Given the description of an element on the screen output the (x, y) to click on. 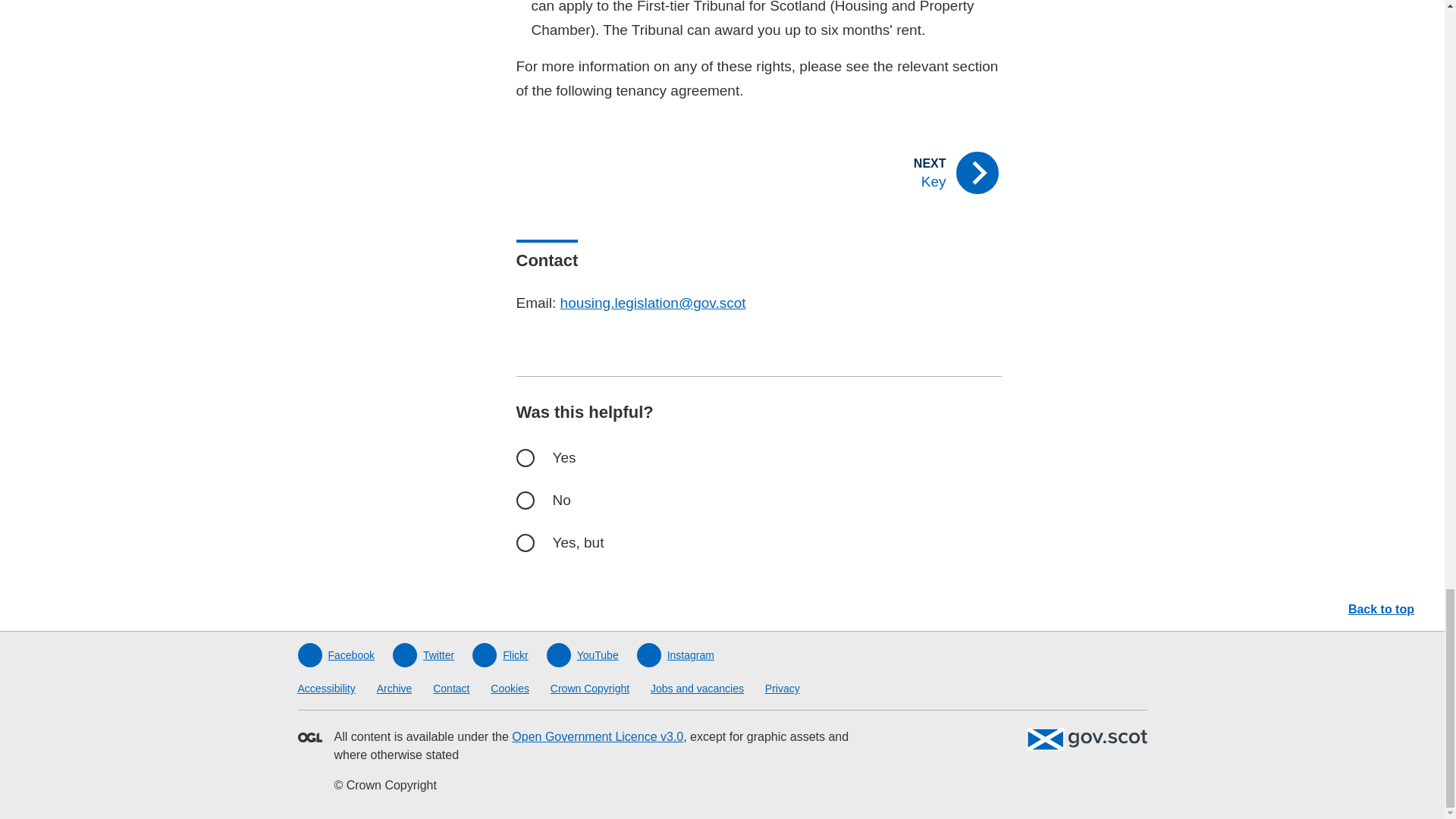
Next page (885, 172)
Twitter (423, 654)
Facebook (335, 654)
YouTube (582, 654)
Flickr (499, 654)
Instagram (675, 654)
Key (885, 172)
